Given the description of an element on the screen output the (x, y) to click on. 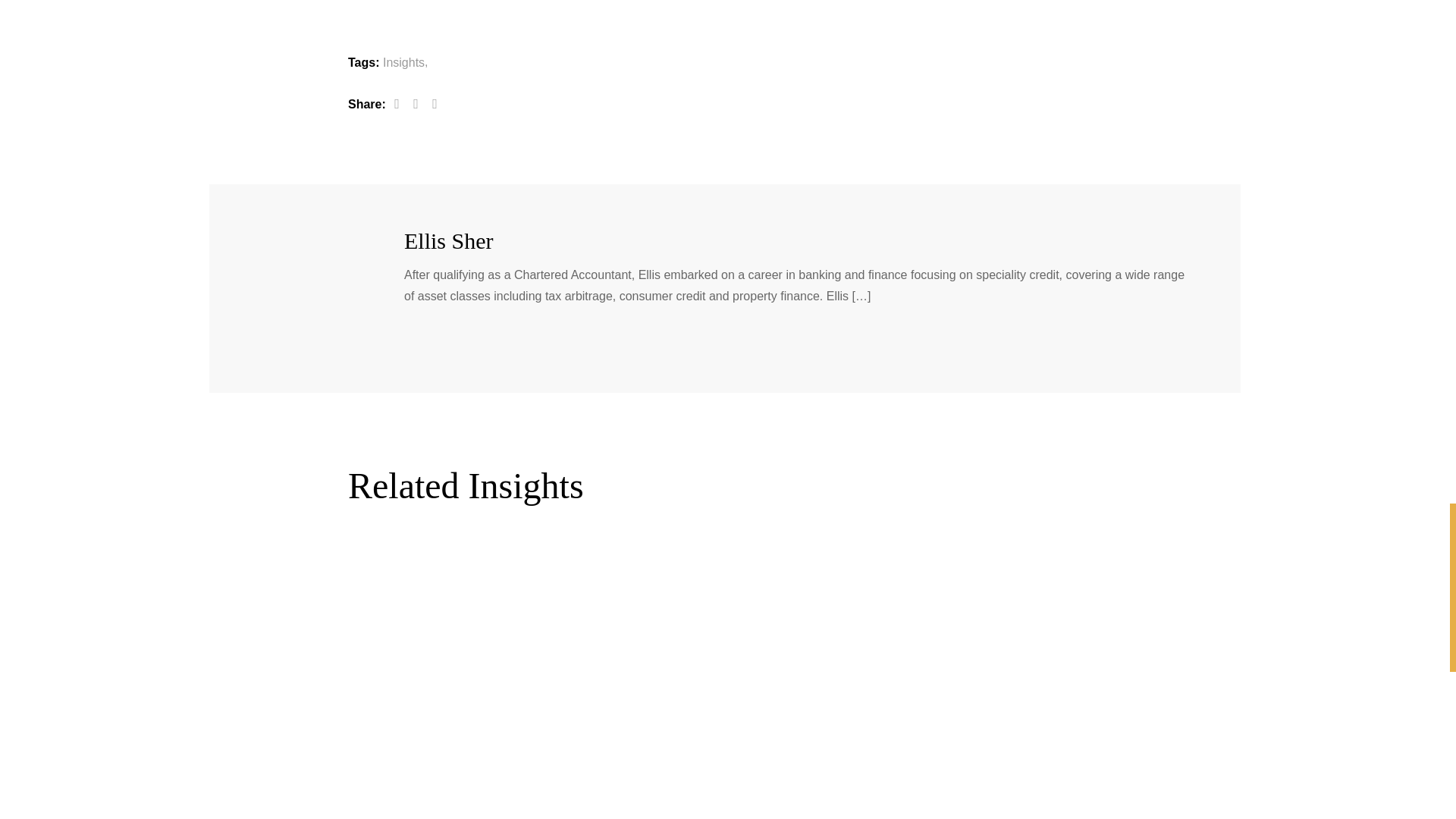
Twitter (415, 103)
Insights (403, 62)
LinkedIn (434, 103)
Facebook (396, 103)
